Given the description of an element on the screen output the (x, y) to click on. 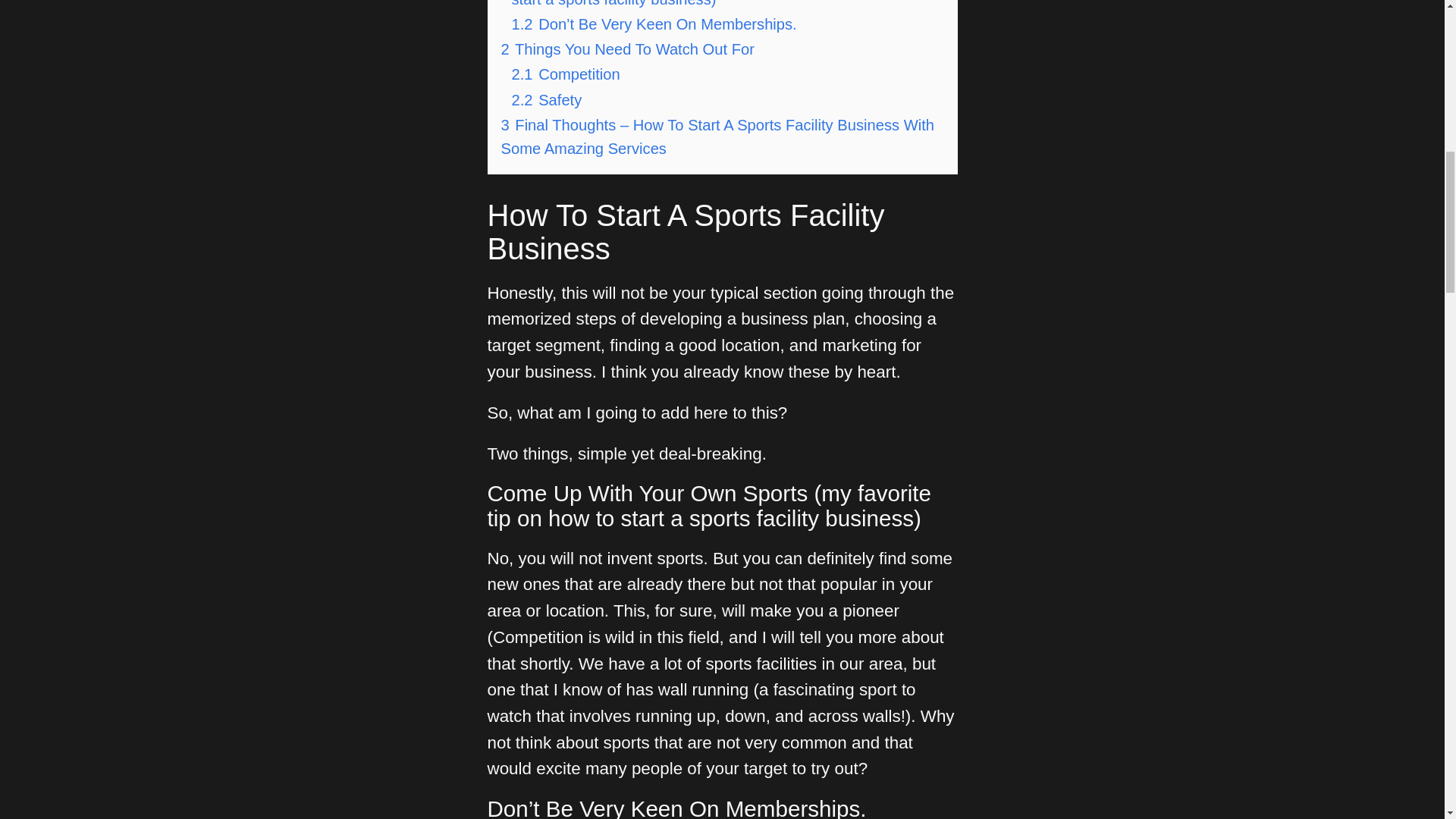
2.1 Competition (565, 74)
2 Things You Need To Watch Out For (627, 48)
2.2 Safety (545, 99)
